Given the description of an element on the screen output the (x, y) to click on. 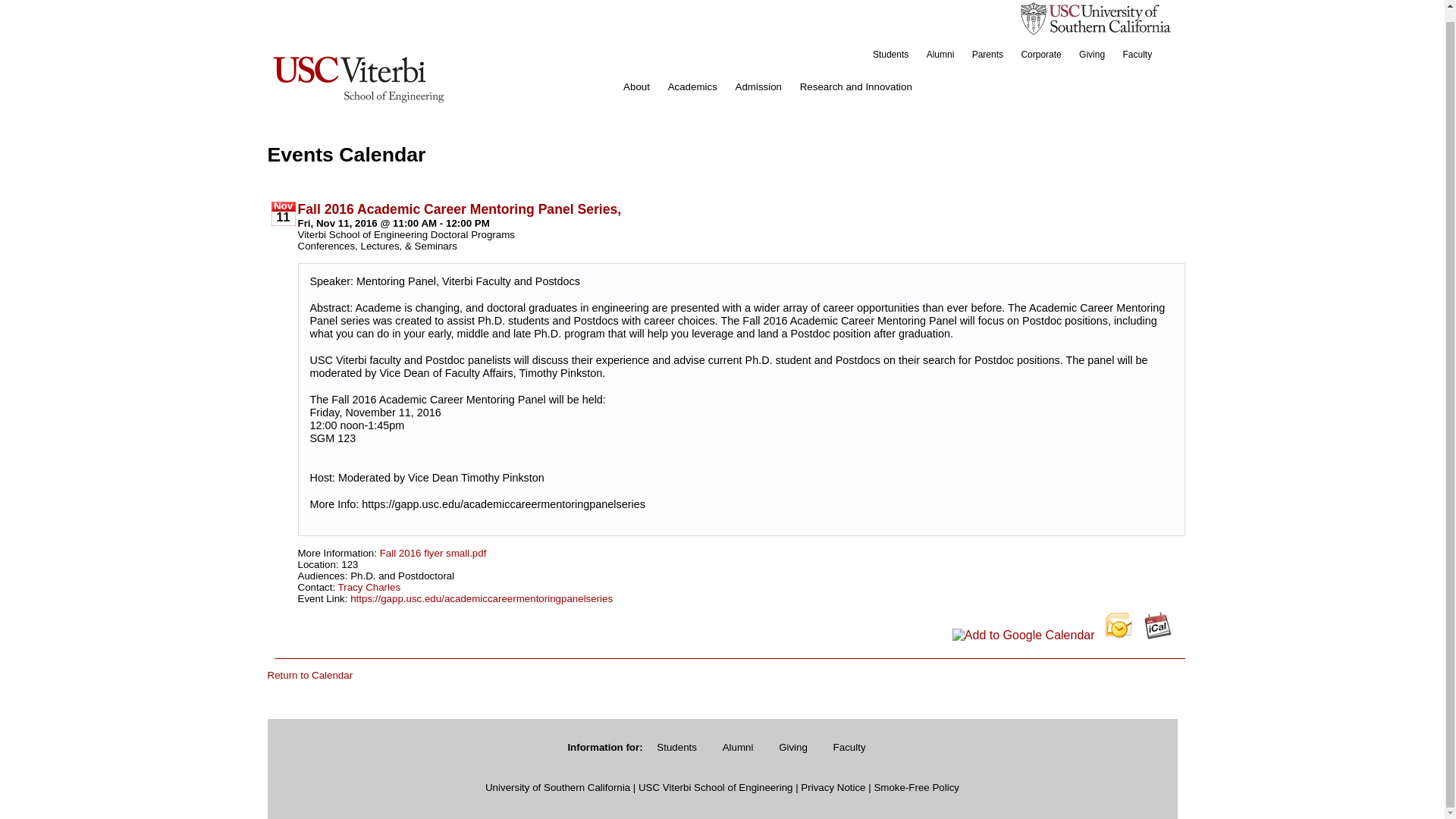
Faculty (1136, 54)
Alumni (738, 746)
Return to Calendar (309, 674)
Giving (1091, 54)
Send Email to  Tracy Charles (368, 585)
Viterbi School of Engineering (357, 78)
Admission (758, 87)
About (636, 87)
Fall 2016 flyer small.pdf (433, 551)
11 (282, 217)
Corporate (1040, 54)
Research and Innovation (856, 87)
Smoke-Free Policy (916, 787)
Faculty (849, 746)
Privacy Notice (832, 787)
